Given the description of an element on the screen output the (x, y) to click on. 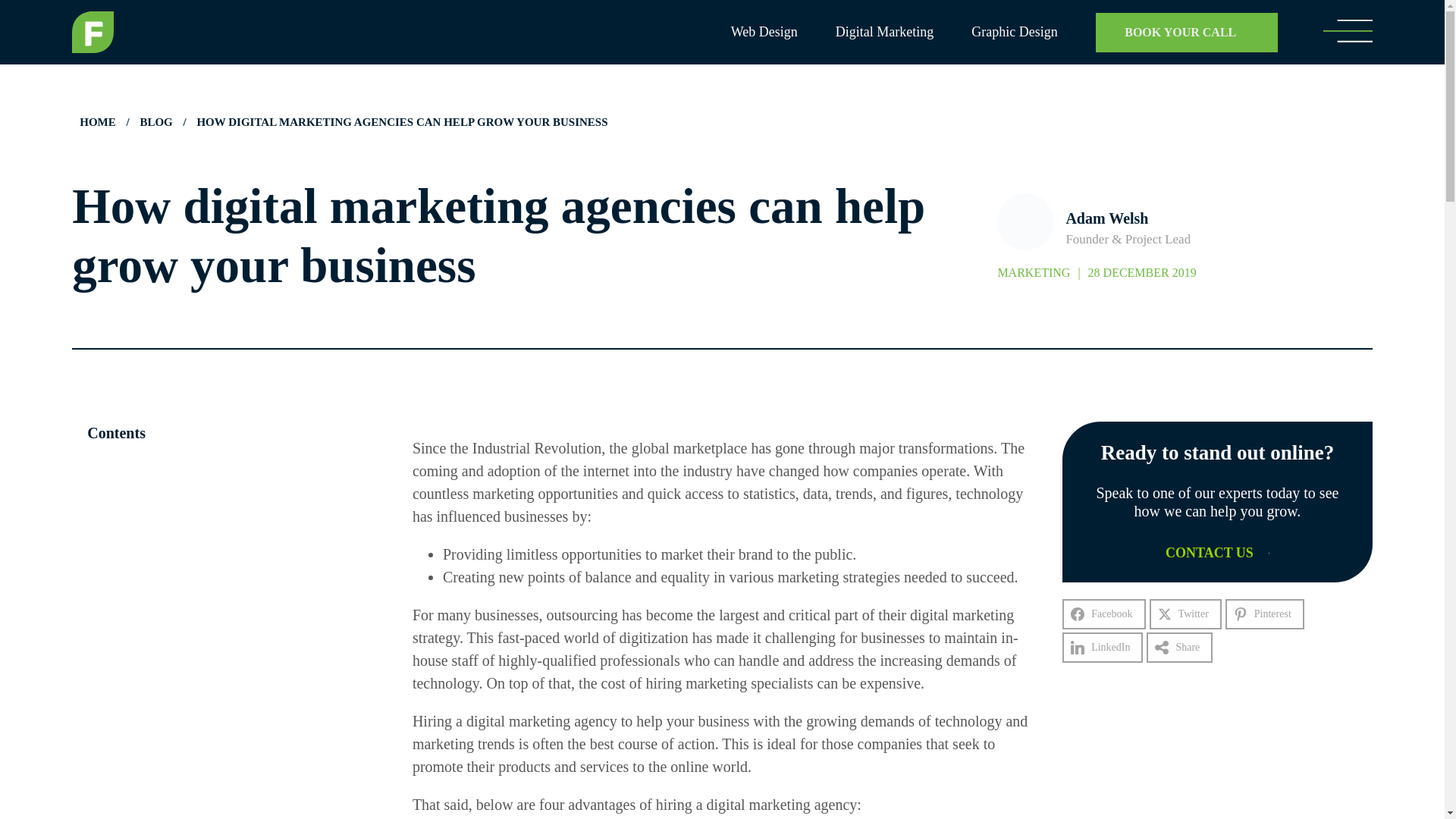
BLOG (155, 121)
Graphic Design (1014, 32)
Share (1179, 647)
Twitter (1185, 613)
HOME (97, 121)
Share on Facebook (1103, 613)
Pinterest (1264, 613)
Digital Marketing (884, 32)
Share on Share (1179, 647)
Web Design (763, 32)
